Given the description of an element on the screen output the (x, y) to click on. 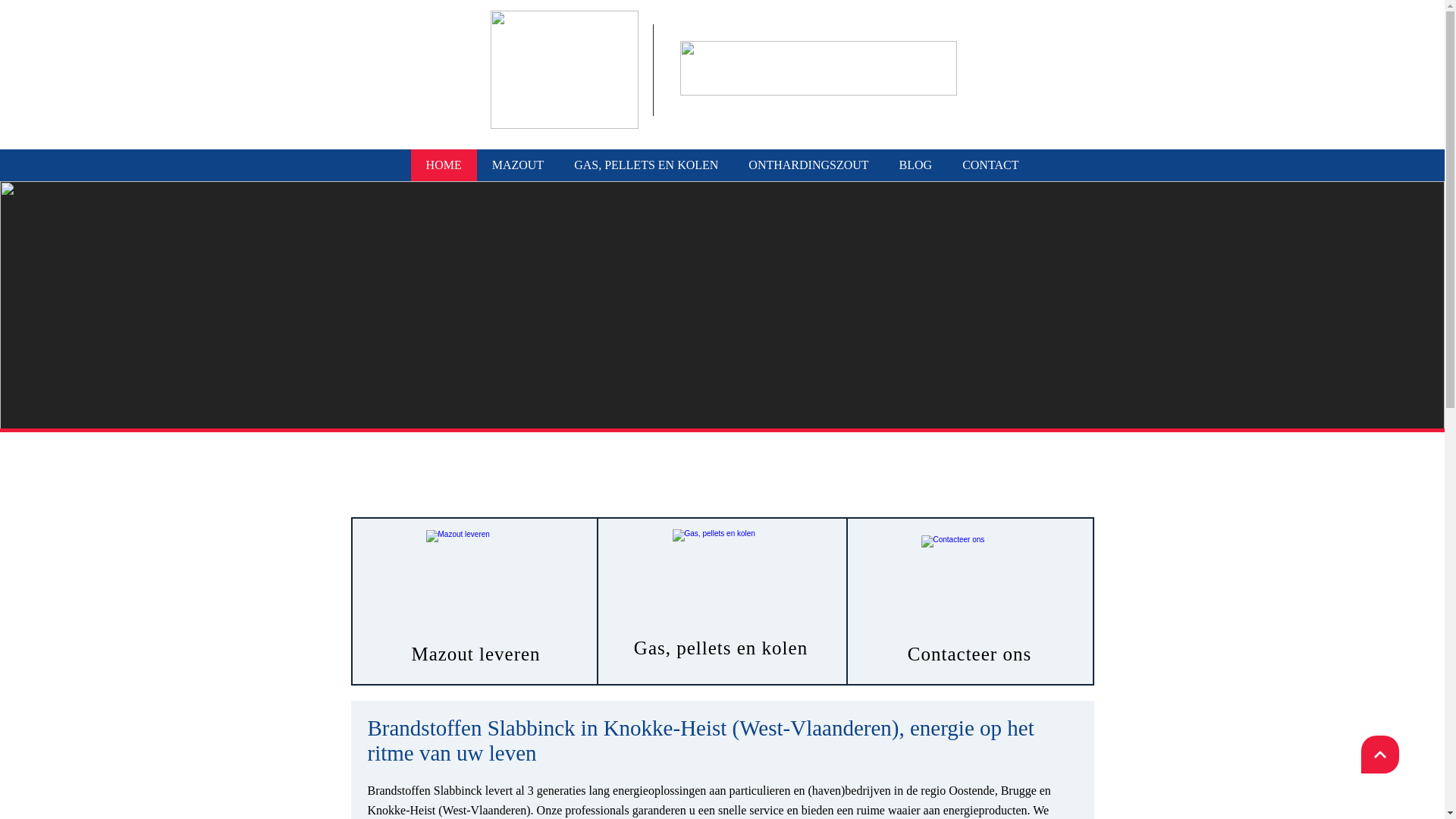
Contacteer ons Element type: hover (968, 583)
Mazout leveren Element type: hover (474, 578)
MAZOUT Element type: text (517, 165)
CONTACT Element type: text (990, 165)
BLOG Element type: text (915, 165)
TotalEnergies_Co-Branding Partnerships_l Element type: hover (563, 69)
ONTHARDINGSZOUT Element type: text (808, 165)
HOME Element type: text (443, 165)
Gas, pellets en kolen Element type: hover (719, 577)
GAS, PELLETS EN KOLEN Element type: text (645, 165)
